Given the description of an element on the screen output the (x, y) to click on. 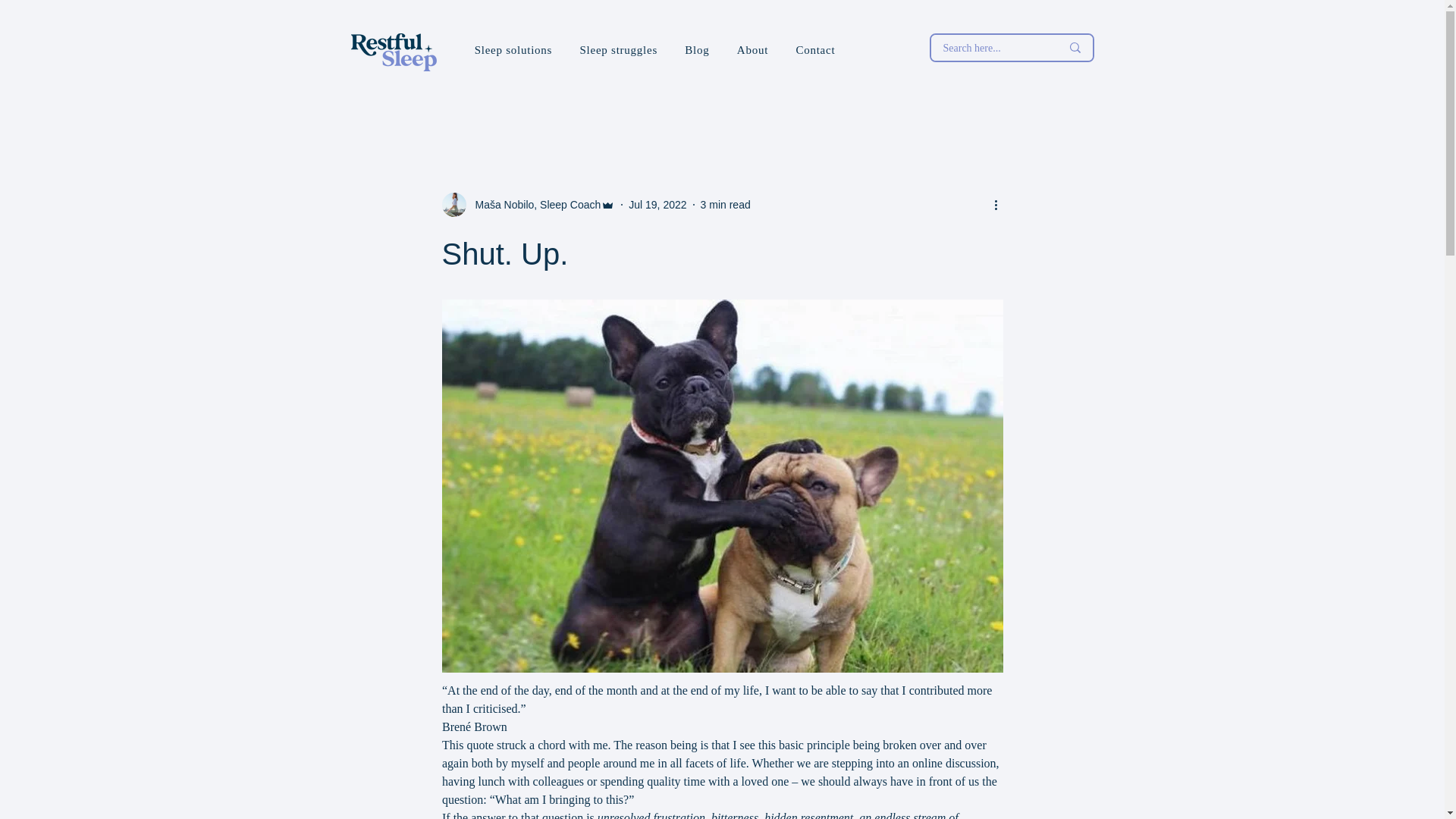
3 min read (725, 204)
Blog (697, 50)
About (752, 50)
Jul 19, 2022 (656, 204)
Contact (814, 50)
